Given the description of an element on the screen output the (x, y) to click on. 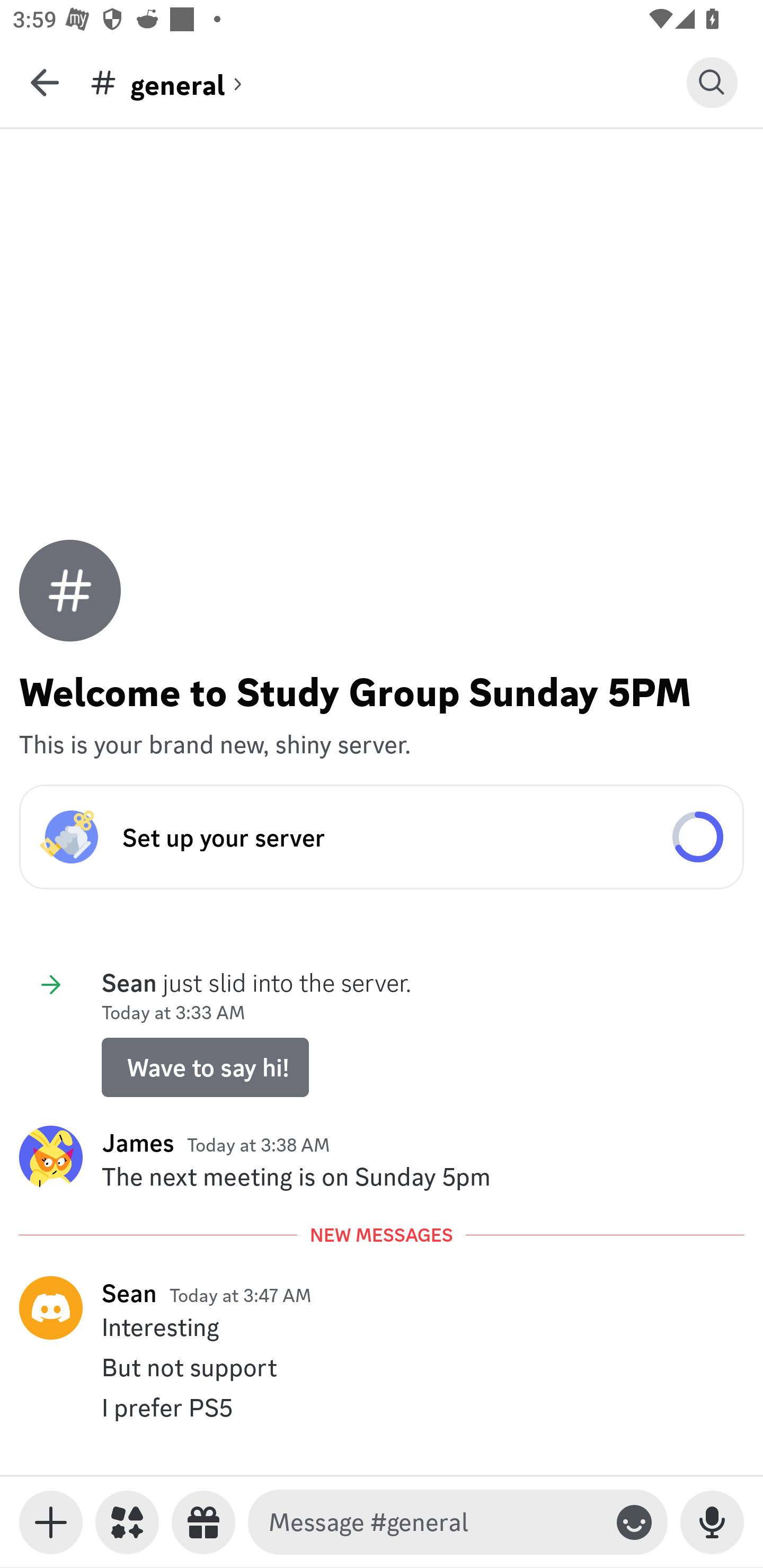
general (channel) general general (channel) (387, 82)
Back (44, 82)
Search (711, 82)
Set up your server (381, 836)
Wave to say hi! (205, 1067)
James (137, 1142)
Sean (129, 1292)
yuxiang.007, But not support But not support (381, 1366)
yuxiang.007, I prefer PS5 I prefer PS5 (381, 1406)
Toggle media keyboard (50, 1522)
Apps (126, 1522)
Send a gift (203, 1522)
Record Voice Message (711, 1522)
Message #general (433, 1522)
Toggle emoji keyboard (634, 1522)
